Given the description of an element on the screen output the (x, y) to click on. 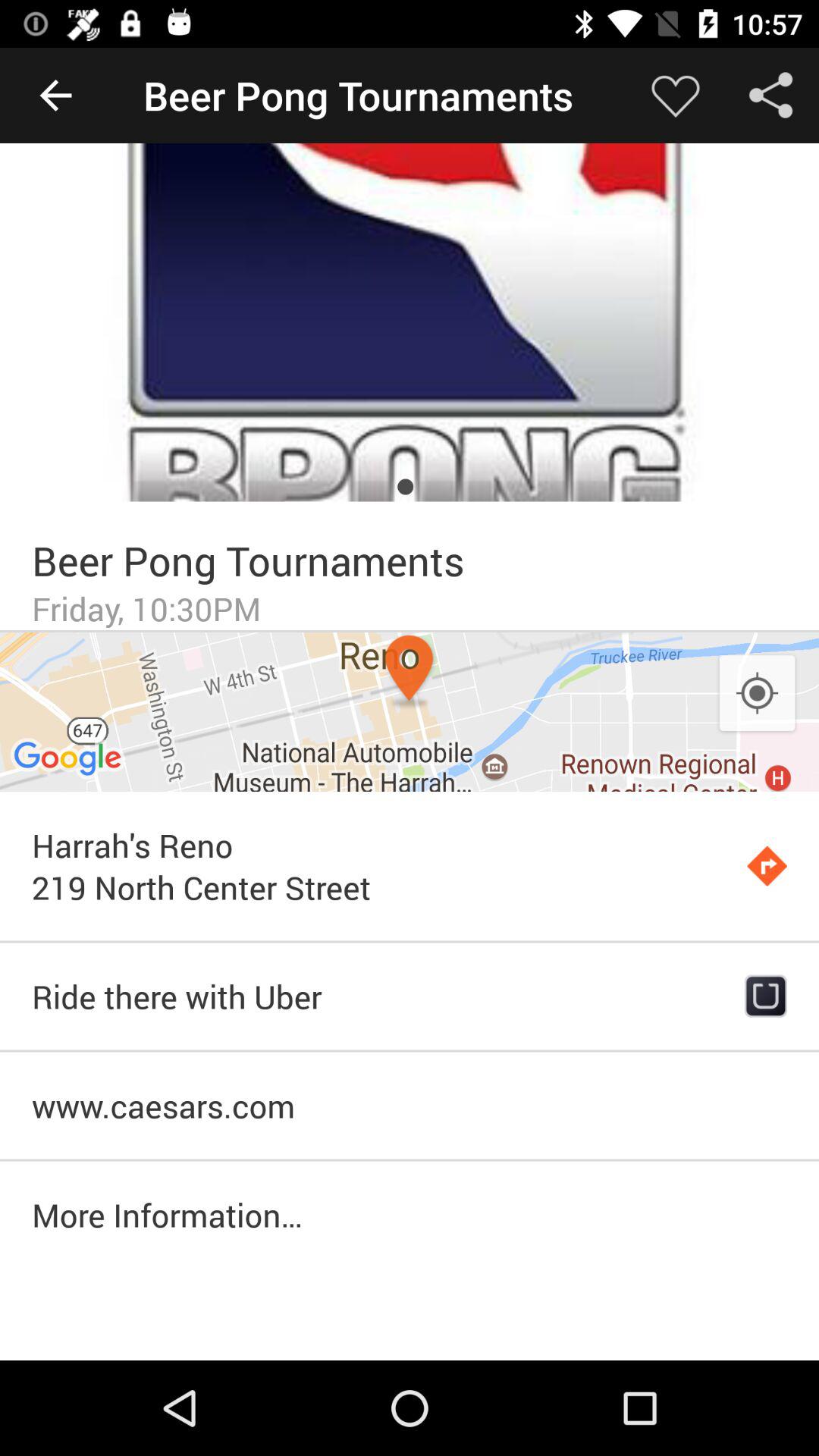
launch the www.caesars.com item (409, 1105)
